Given the description of an element on the screen output the (x, y) to click on. 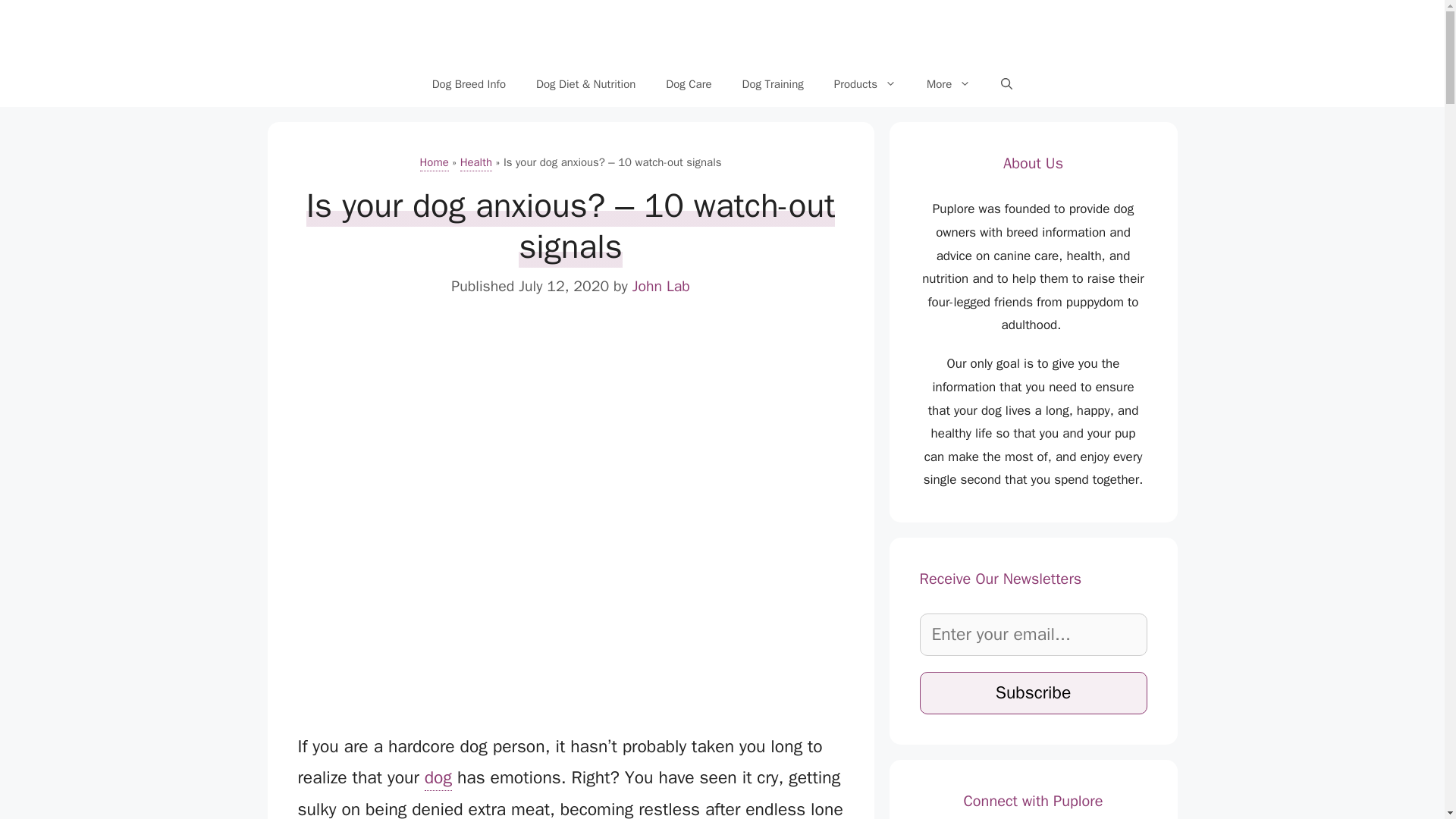
Products (864, 84)
Puplore (721, 30)
Home (434, 163)
Dog Care (688, 84)
dog (438, 778)
Dog Breed Info (468, 84)
View all posts by John Lab (660, 286)
Dog Training (772, 84)
John Lab (660, 286)
Health (476, 163)
